Given the description of an element on the screen output the (x, y) to click on. 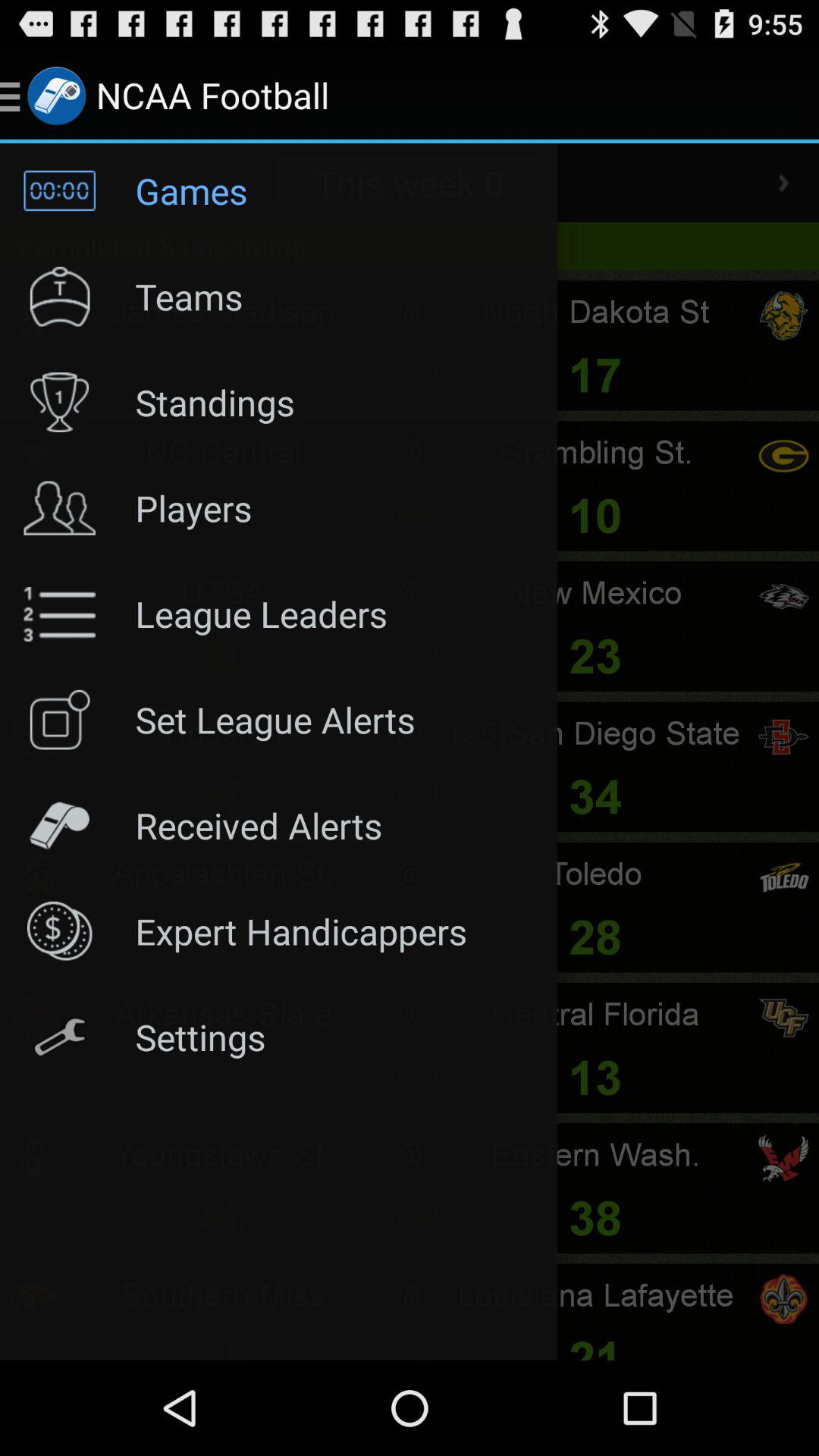
click the settings icon (35, 1017)
select the ucf in florida (784, 1017)
